Given the description of an element on the screen output the (x, y) to click on. 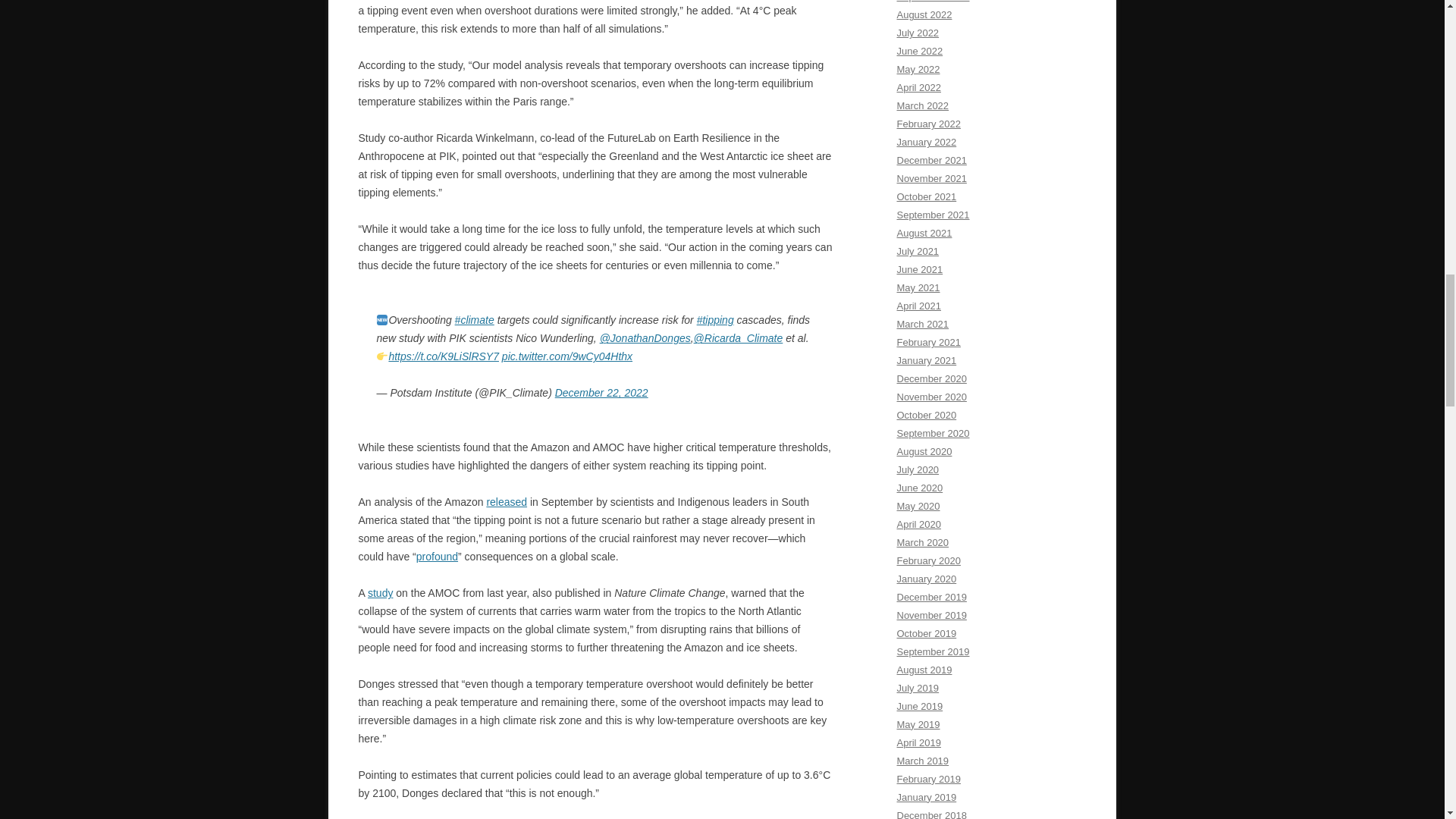
profound (437, 556)
released (506, 501)
December 22, 2022 (600, 392)
study (380, 592)
